Given the description of an element on the screen output the (x, y) to click on. 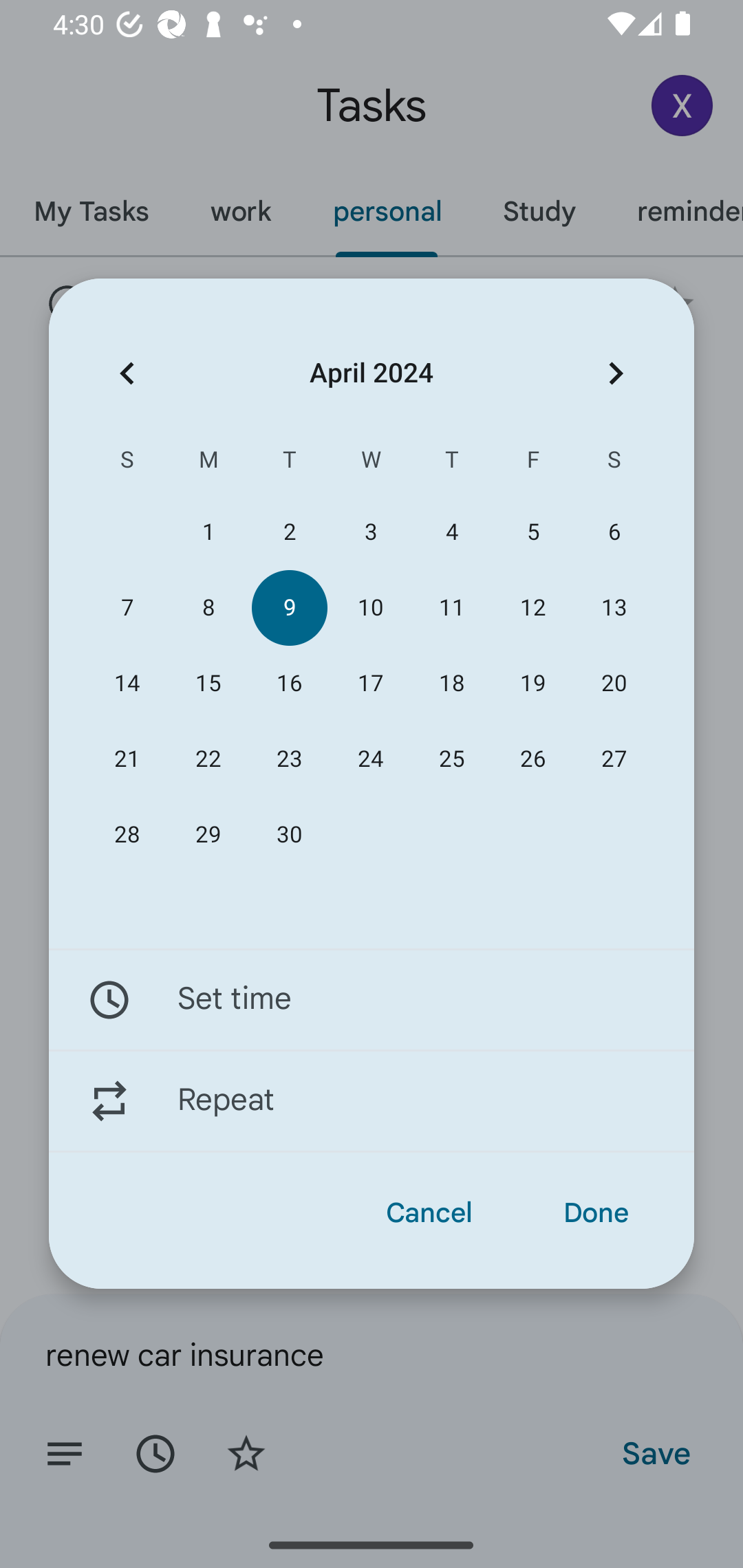
Previous month (126, 372)
Next month (615, 372)
1 01 April 2024 (207, 531)
2 02 April 2024 (288, 531)
3 03 April 2024 (370, 531)
4 04 April 2024 (451, 531)
5 05 April 2024 (532, 531)
6 06 April 2024 (613, 531)
7 07 April 2024 (126, 608)
8 08 April 2024 (207, 608)
9 09 April 2024 (288, 608)
10 10 April 2024 (370, 608)
11 11 April 2024 (451, 608)
12 12 April 2024 (532, 608)
13 13 April 2024 (613, 608)
14 14 April 2024 (126, 683)
15 15 April 2024 (207, 683)
16 16 April 2024 (288, 683)
17 17 April 2024 (370, 683)
18 18 April 2024 (451, 683)
19 19 April 2024 (532, 683)
20 20 April 2024 (613, 683)
21 21 April 2024 (126, 758)
22 22 April 2024 (207, 758)
23 23 April 2024 (288, 758)
24 24 April 2024 (370, 758)
25 25 April 2024 (451, 758)
26 26 April 2024 (532, 758)
27 27 April 2024 (613, 758)
28 28 April 2024 (126, 834)
29 29 April 2024 (207, 834)
30 30 April 2024 (288, 834)
Set time (371, 999)
Repeat (371, 1101)
Cancel (429, 1213)
Done (595, 1213)
